Given the description of an element on the screen output the (x, y) to click on. 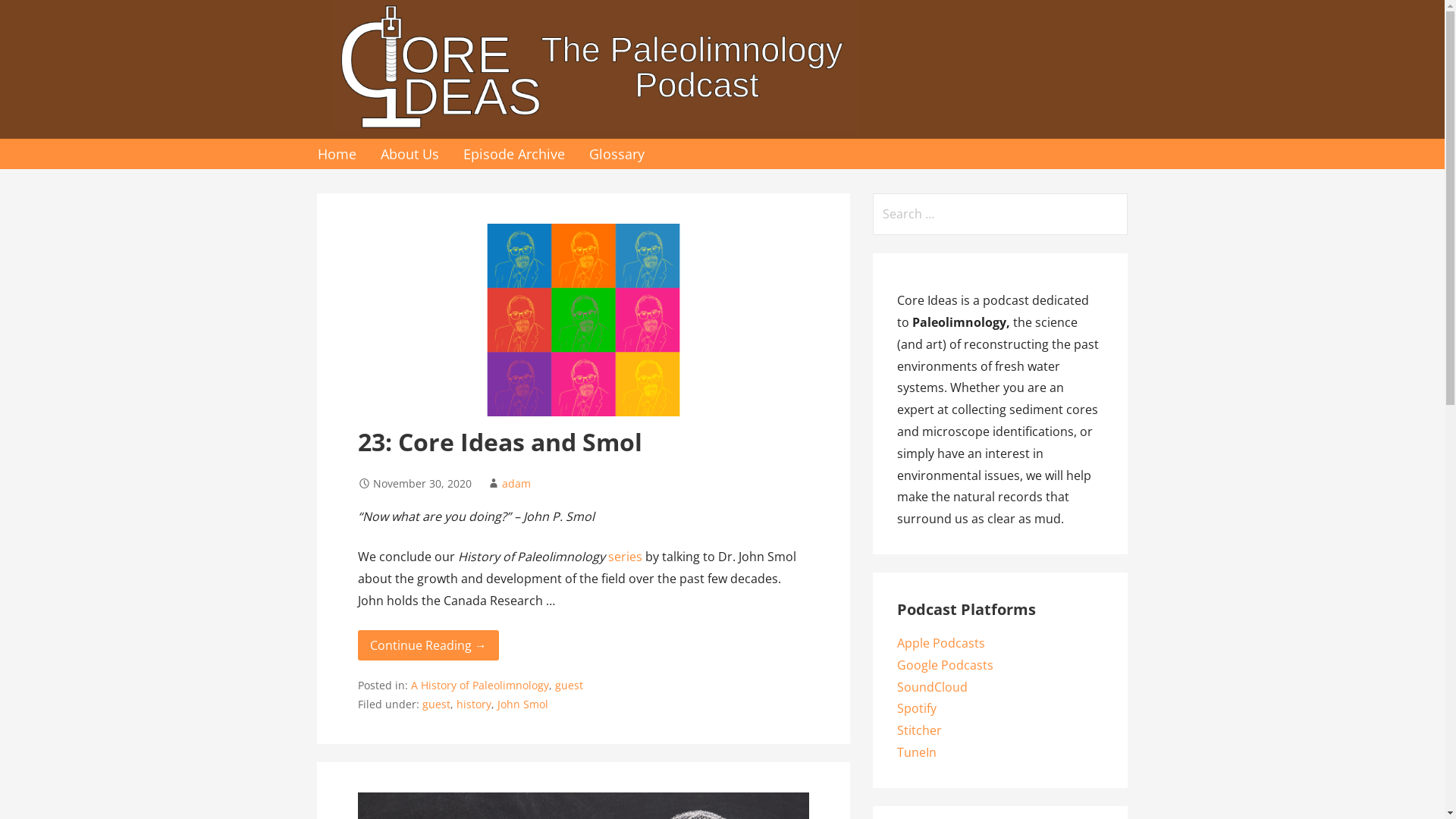
TuneIn Element type: text (916, 751)
adam Element type: text (516, 483)
SoundCloud Element type: text (932, 686)
About Us Element type: text (409, 153)
Google Podcasts Element type: text (945, 664)
guest Element type: text (569, 684)
A History of Paleolimnology Element type: text (480, 684)
guest Element type: text (436, 703)
Episode Archive Element type: text (513, 153)
Stitcher Element type: text (919, 729)
Home Element type: text (335, 153)
Apple Podcasts Element type: text (941, 642)
series Element type: text (625, 556)
Search Element type: text (31, 15)
John Smol Element type: text (522, 703)
23: Core Ideas and Smol Element type: text (499, 441)
Glossary Element type: text (615, 153)
Spotify Element type: text (916, 707)
history Element type: text (473, 703)
